Given the description of an element on the screen output the (x, y) to click on. 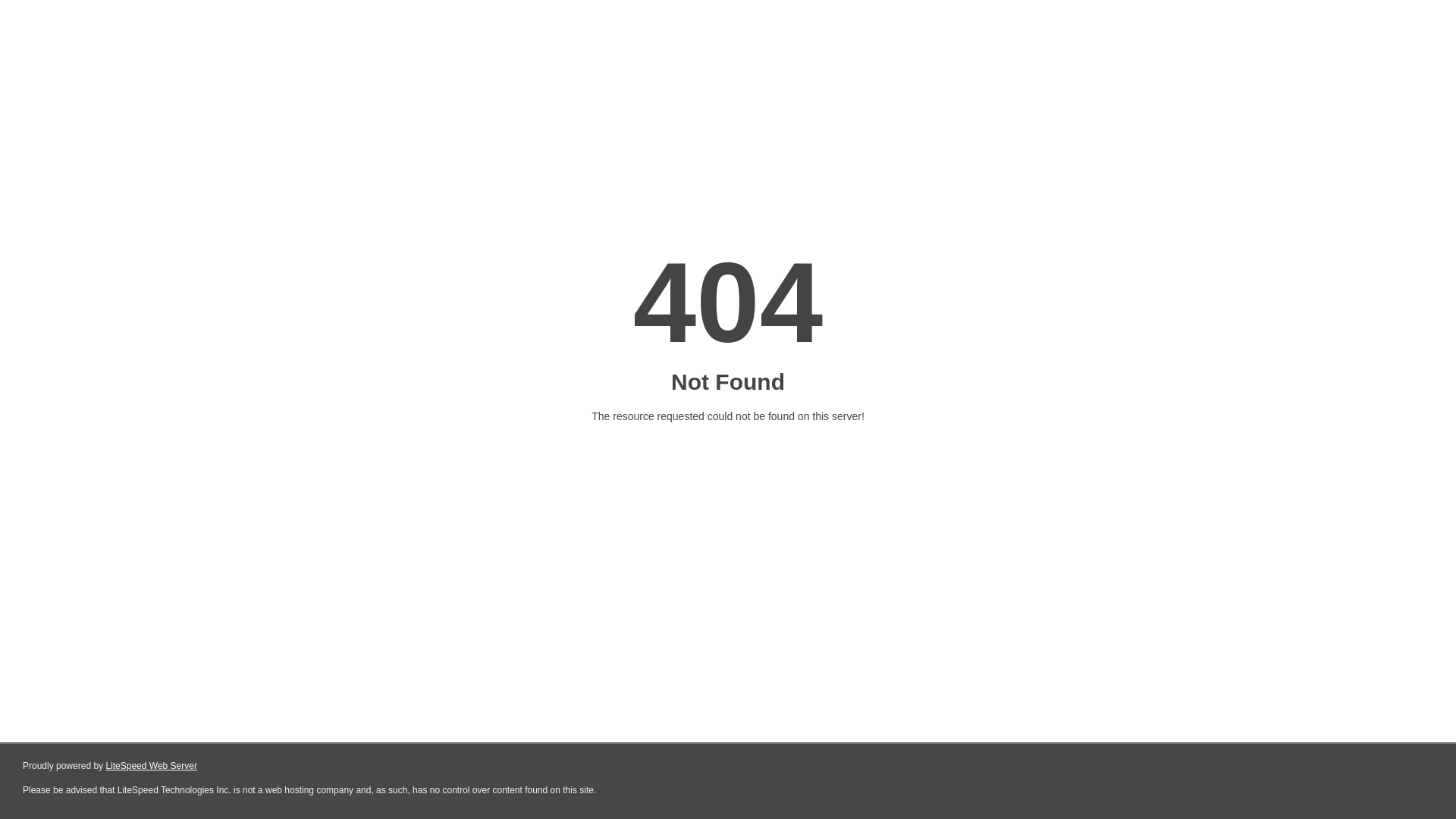
LiteSpeed Web Server Element type: text (151, 765)
